Given the description of an element on the screen output the (x, y) to click on. 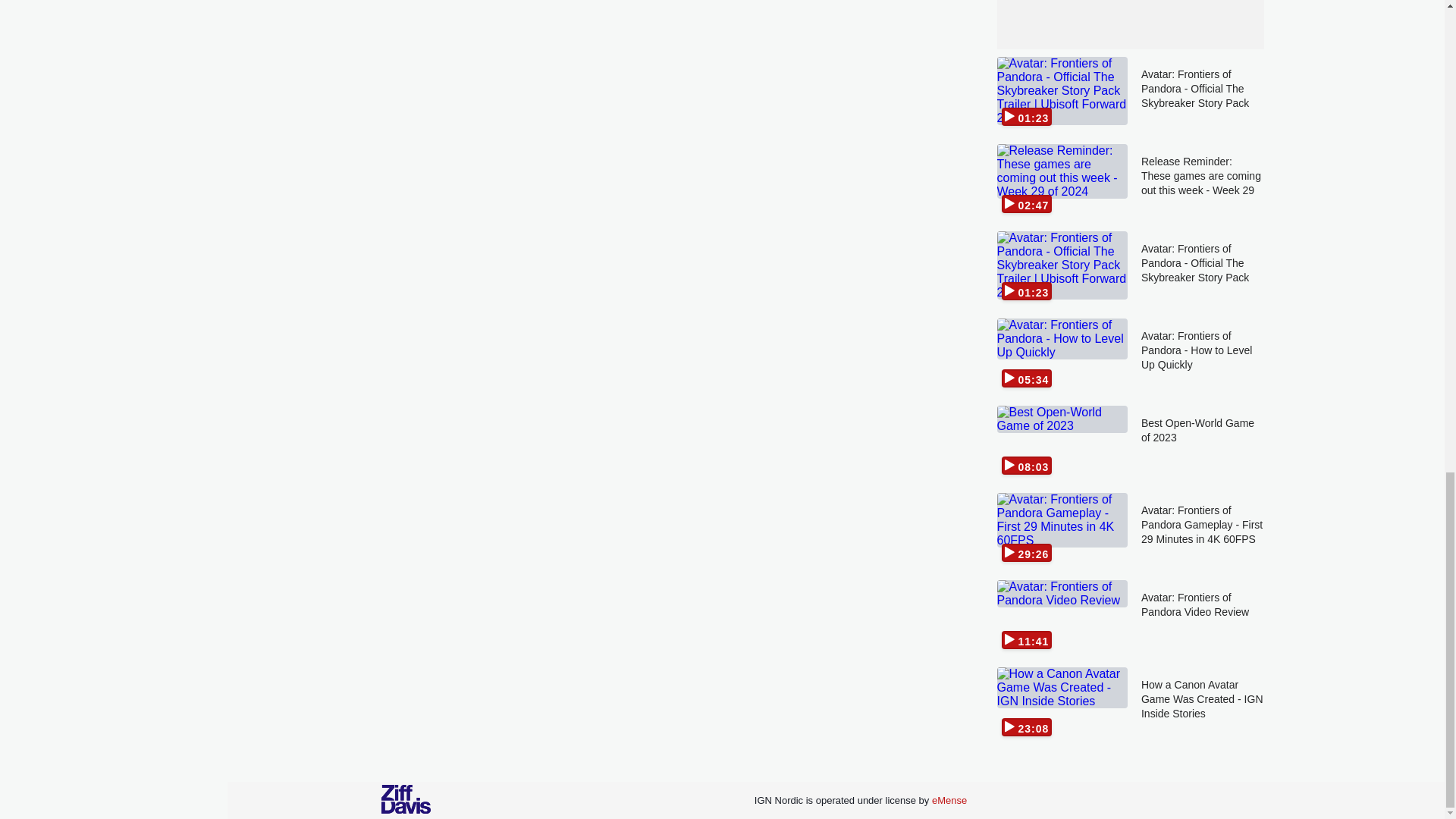
01:23 (1060, 93)
